Given the description of an element on the screen output the (x, y) to click on. 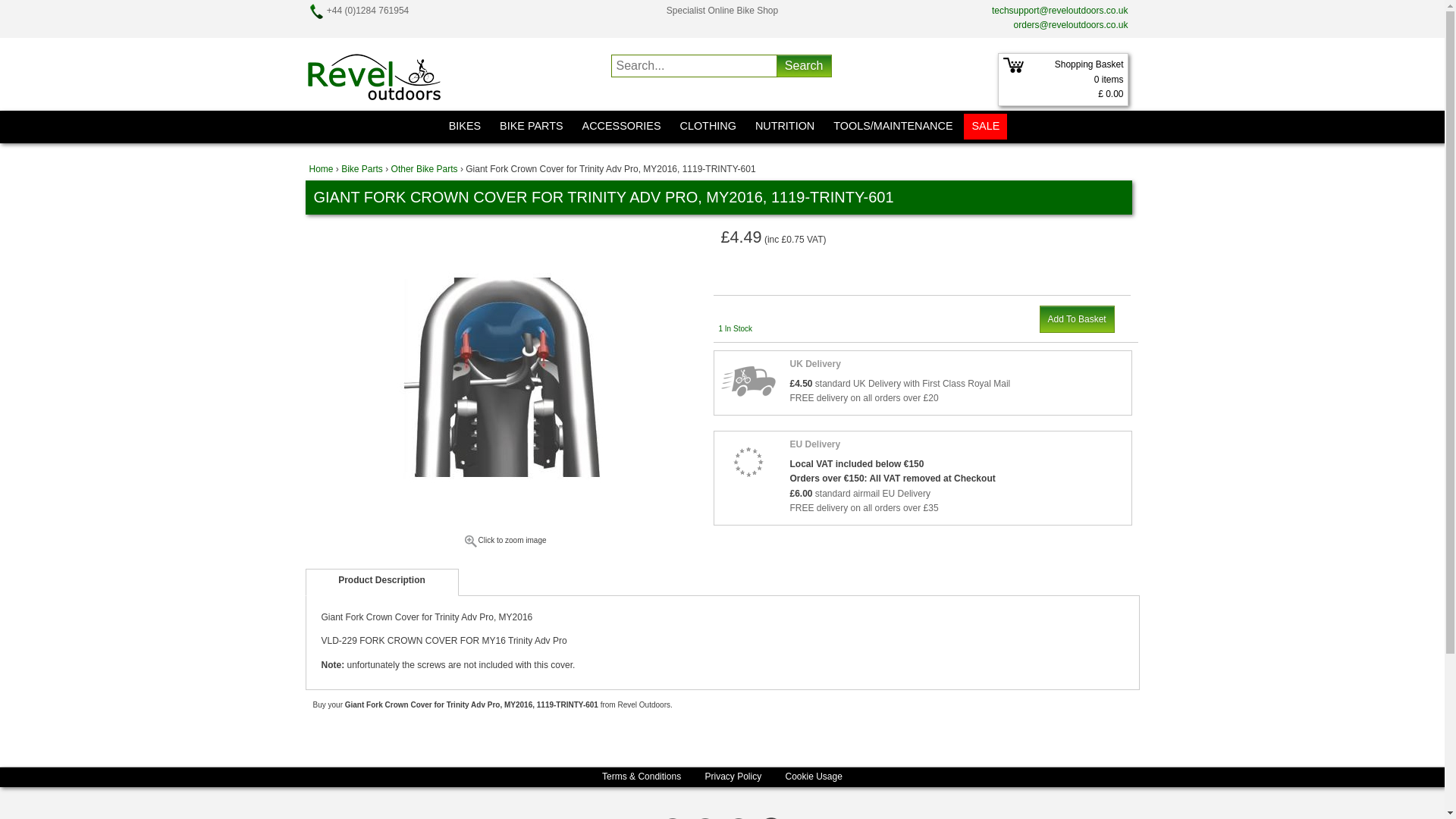
BIKES (464, 126)
NUTRITION (785, 126)
Search (803, 65)
SALE (985, 126)
Follow Revel Outdoors on Instagram (771, 818)
Click to zoom image (504, 543)
Bike Parts (361, 168)
Follow Revel Outdoors on twitter (672, 818)
Privacy Policy (732, 776)
Find Revel Outdoors on Facebook (705, 818)
